Given the description of an element on the screen output the (x, y) to click on. 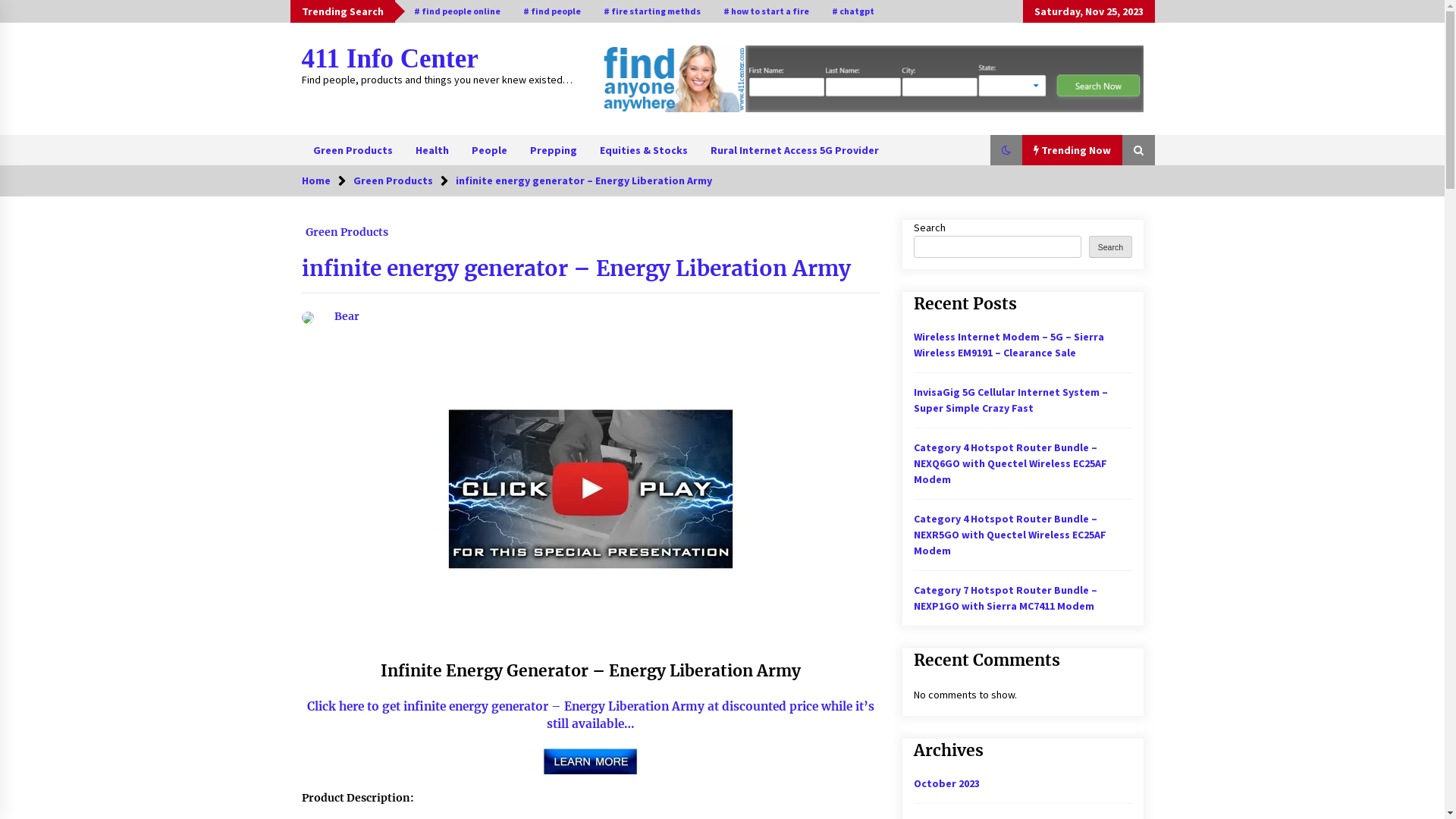
Green Products Element type: text (346, 228)
Health Element type: text (431, 149)
# find people online Element type: text (456, 11)
Green Products Element type: text (352, 149)
Rural Internet Access 5G Provider Element type: text (794, 149)
Bear Element type: text (330, 316)
Green Products Element type: text (393, 180)
# fire starting methds Element type: text (651, 11)
# find people Element type: text (551, 11)
Prepping Element type: text (553, 149)
October 2023 Element type: text (946, 783)
Home Element type: text (315, 180)
# chatgpt Element type: text (852, 11)
411 People Search Element type: hover (872, 78)
411 Info Center Element type: text (389, 58)
People Element type: text (488, 149)
# how to start a fire Element type: text (765, 11)
Equities & Stocks Element type: text (643, 149)
Search Element type: text (1109, 246)
